Given the description of an element on the screen output the (x, y) to click on. 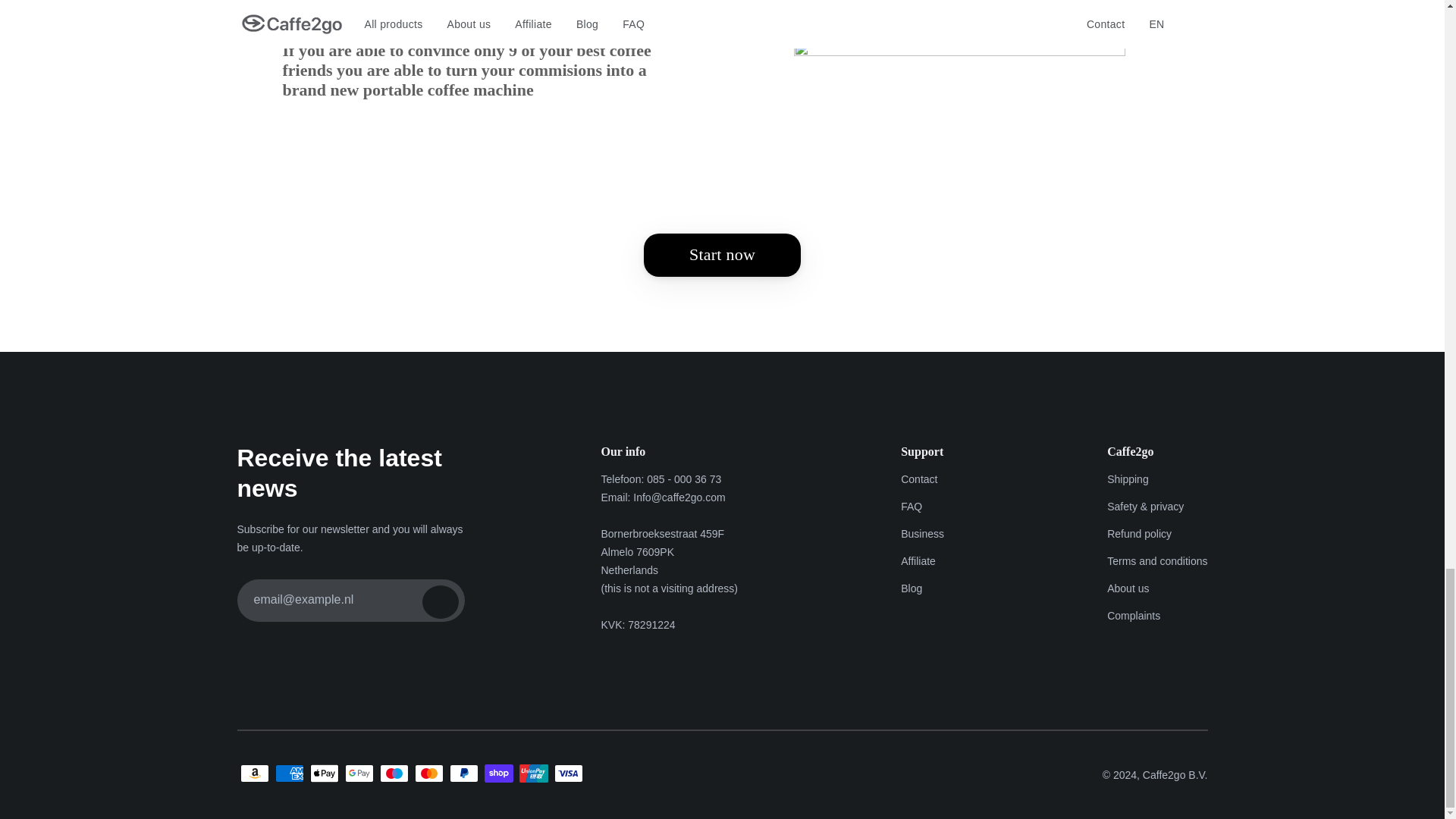
Mastercard (427, 773)
Union Pay (532, 773)
Business (922, 533)
Blog (922, 587)
Refund policy (1156, 533)
Terms and conditions (1156, 560)
Complaints (1156, 615)
Visa (567, 773)
Google Pay (357, 773)
Shop Pay (497, 773)
Amazon (253, 773)
Shipping (1156, 479)
Maestro (392, 773)
PayPal (462, 773)
FAQ (922, 506)
